Given the description of an element on the screen output the (x, y) to click on. 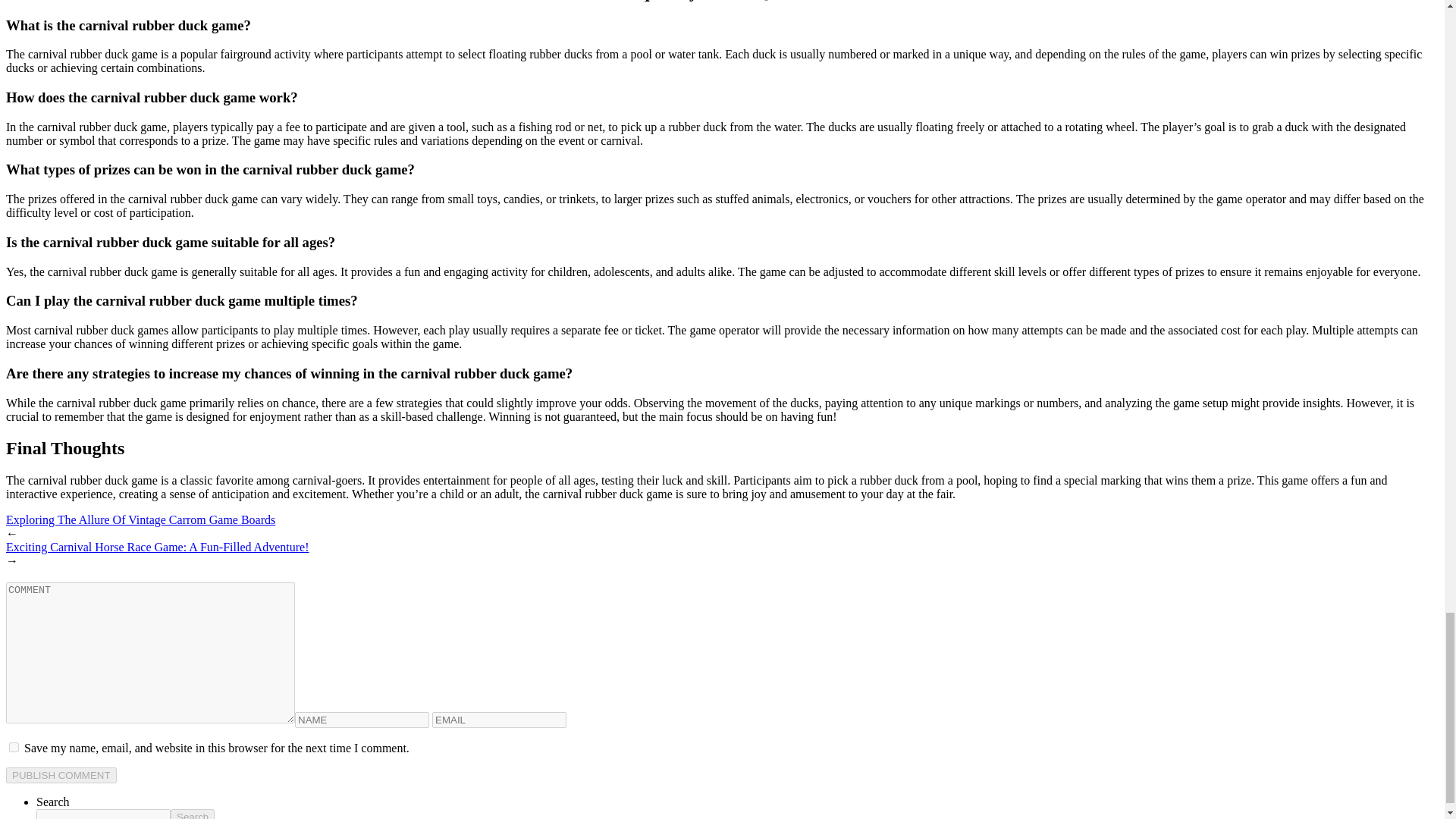
PUBLISH COMMENT (60, 774)
Exploring The Allure Of Vintage Carrom Game Boards (140, 519)
Exciting Carnival Horse Race Game: A Fun-Filled Adventure! (156, 546)
yes (13, 747)
PUBLISH COMMENT (60, 774)
